Given the description of an element on the screen output the (x, y) to click on. 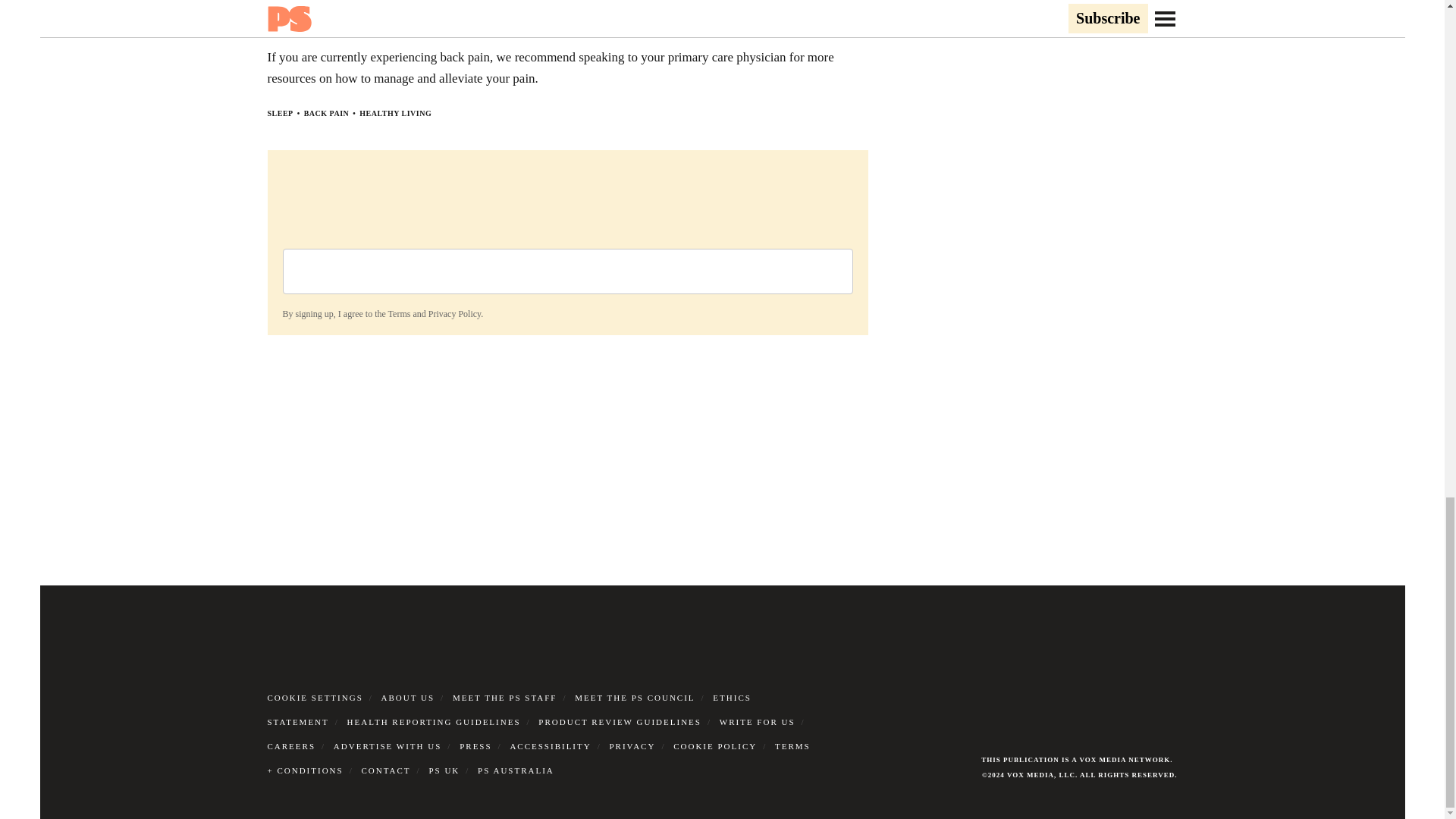
ETHICS STATEMENT (508, 709)
WRITE FOR US (756, 721)
SLEEP (279, 112)
MEET THE PS STAFF (504, 697)
ADVERTISE WITH US (387, 746)
BACK PAIN (326, 112)
ABOUT US (408, 697)
Privacy Policy. (455, 313)
PRESS (476, 746)
MEET THE PS COUNCIL (634, 697)
ACCESSIBILITY (550, 746)
Terms (399, 313)
HEALTHY LIVING (394, 112)
CAREERS (290, 746)
